Given the description of an element on the screen output the (x, y) to click on. 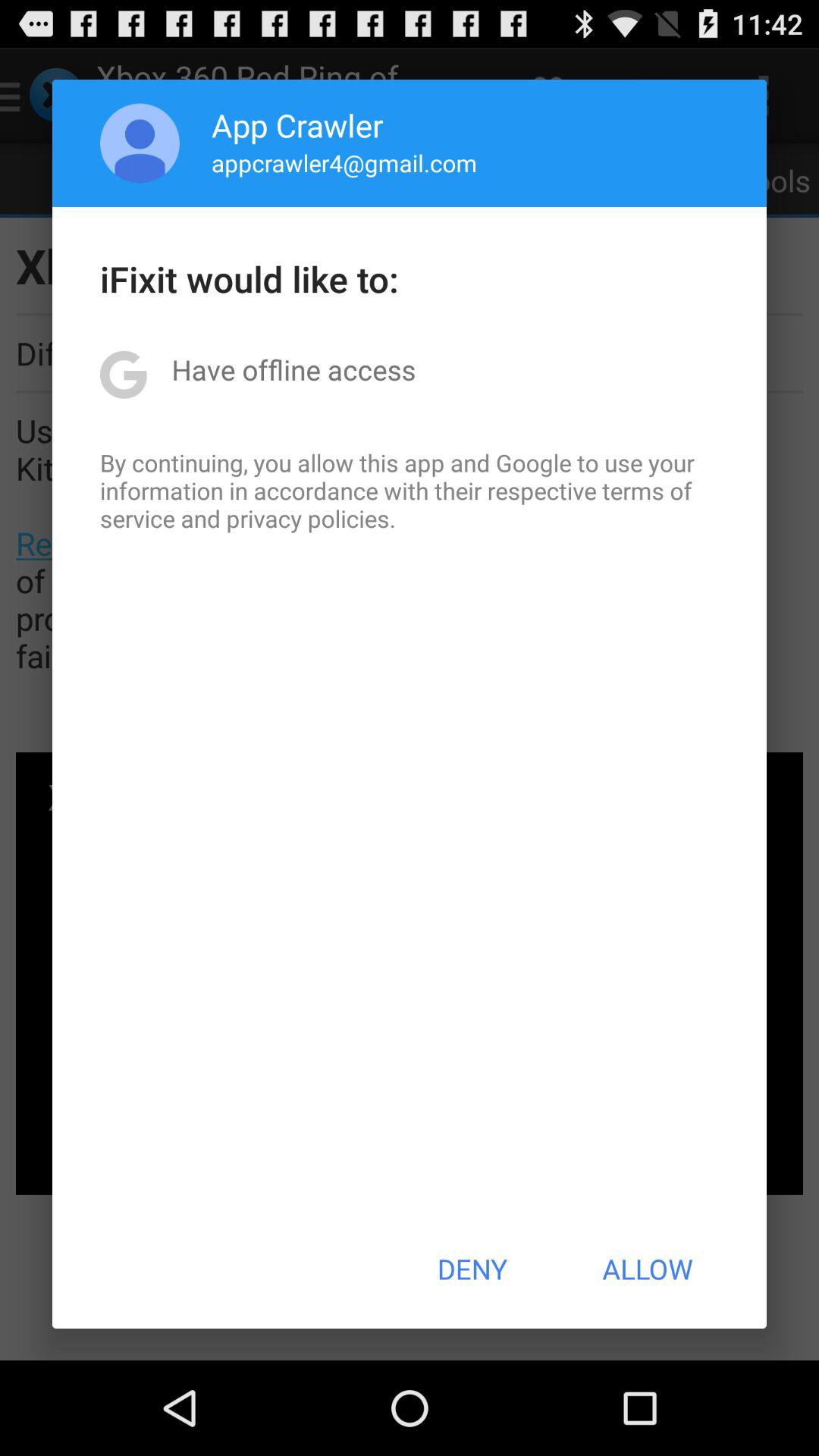
flip to the app crawler item (297, 124)
